Given the description of an element on the screen output the (x, y) to click on. 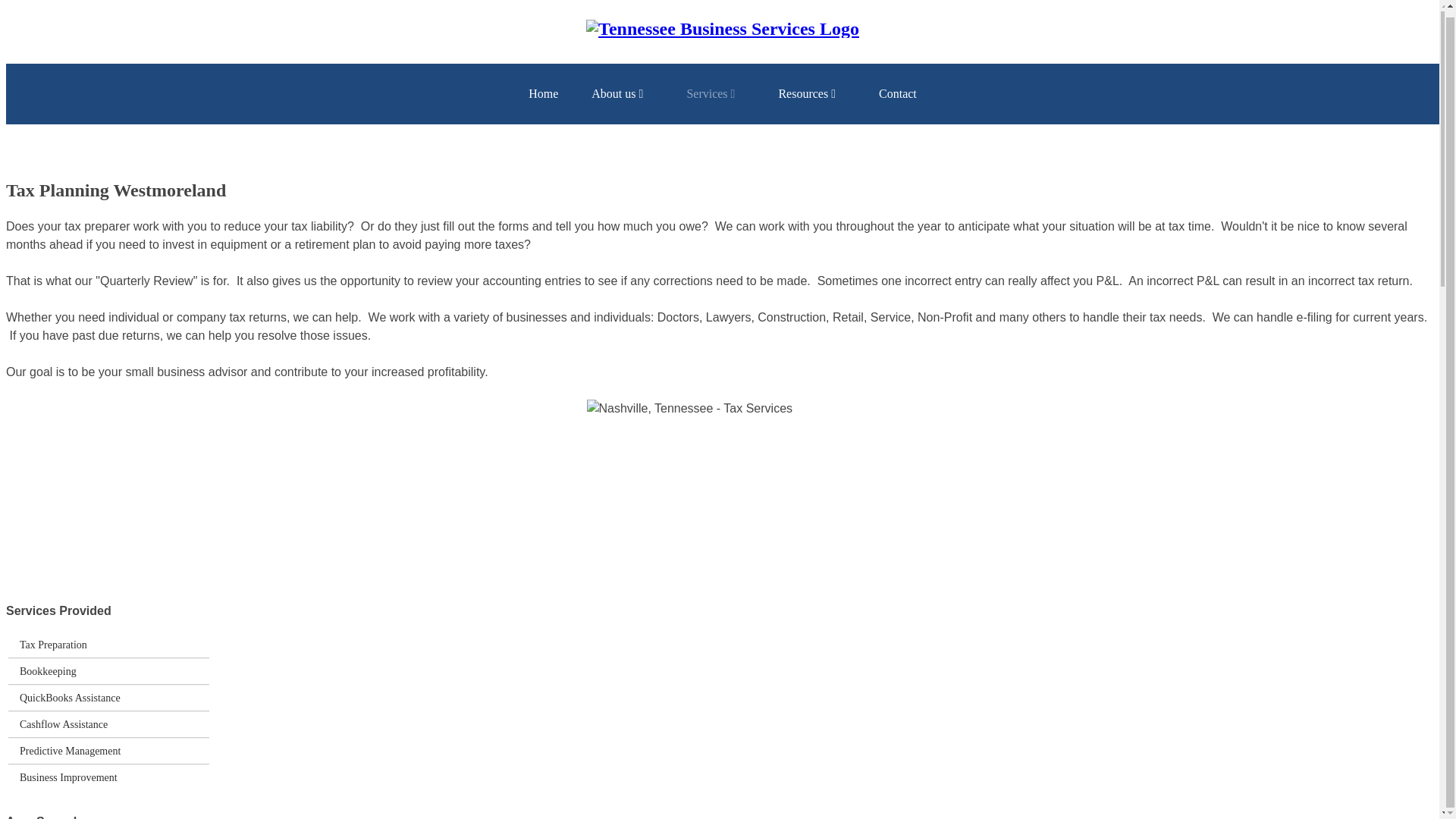
Tax Preparation (53, 644)
tax (722, 478)
Cashflow Assistance (63, 724)
Home (543, 93)
QuickBooks Assistance (70, 697)
About us (622, 93)
Services (715, 93)
Resources (811, 93)
Business Improvement (68, 777)
Contact (897, 93)
Bookkeeping (48, 671)
Predictive Management (70, 750)
